Given the description of an element on the screen output the (x, y) to click on. 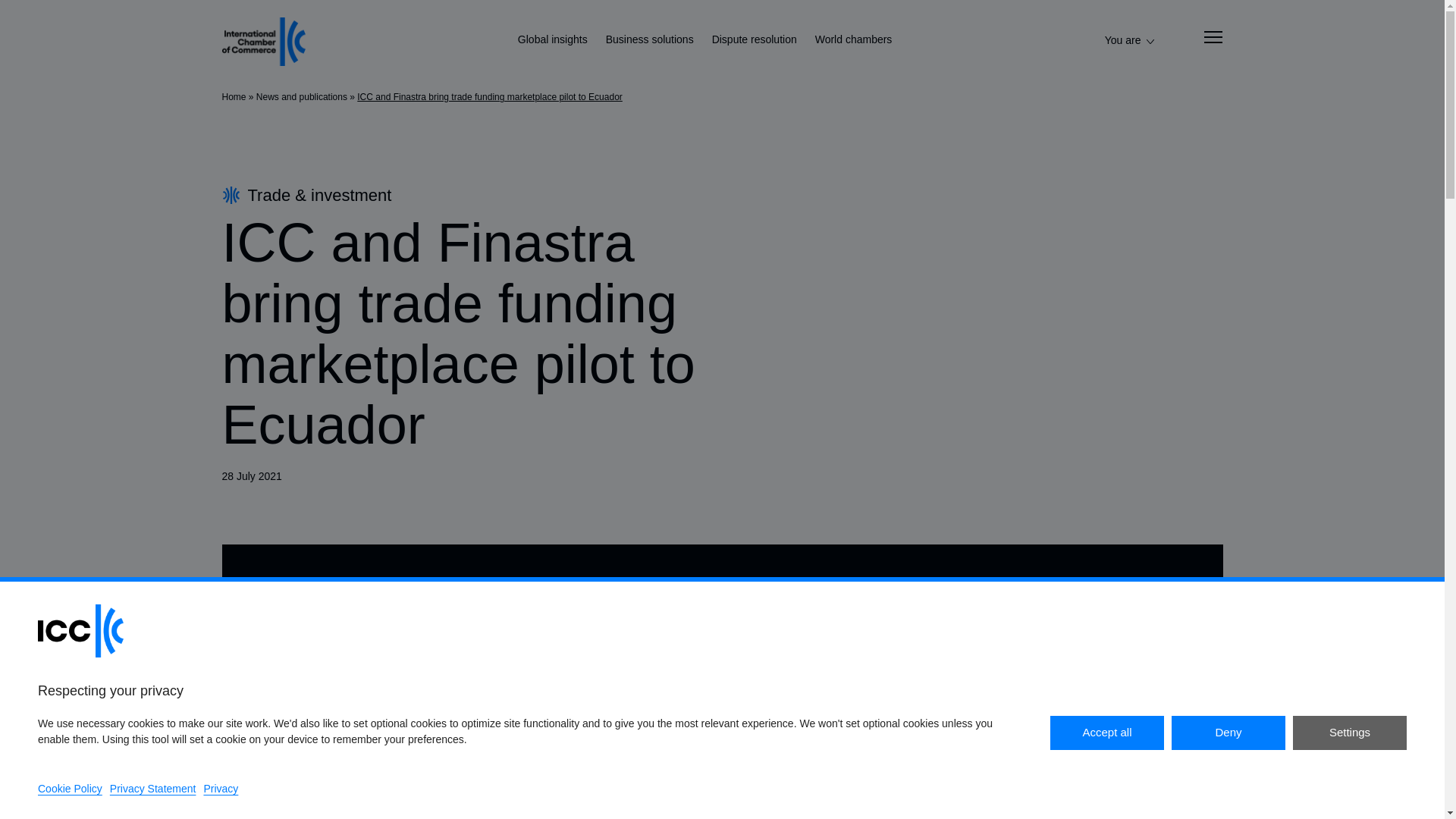
Settings (1349, 732)
ICC - International Chamber of Commerce (262, 41)
Global insights (553, 40)
Accept all (1106, 732)
Privacy Statement (153, 788)
Privacy (220, 788)
Cookie Policy (69, 788)
Deny (1228, 732)
